Given the description of an element on the screen output the (x, y) to click on. 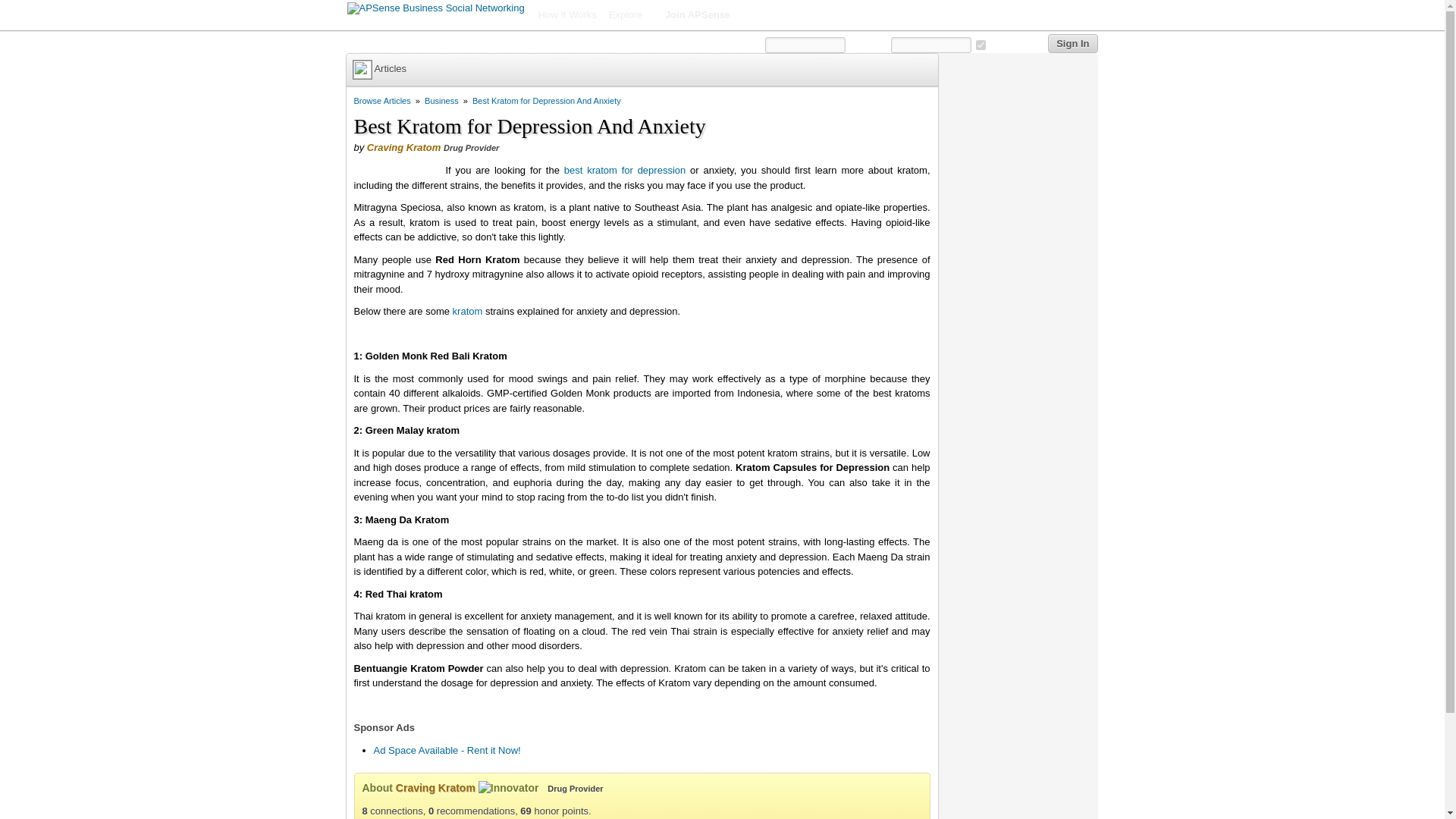
Browse Articles (381, 100)
Business (441, 100)
Best Kratom for Depression And Anxiety (546, 100)
best kratom for depression (624, 170)
Sign In (1072, 43)
kratom (467, 310)
Innovator (508, 788)
Ad Space Available - Rent it Now! (445, 749)
How It Works (567, 15)
Explore (630, 15)
Craving Kratom (436, 787)
1 (980, 44)
Join APSense (697, 15)
Craving Kratom (403, 147)
